Given the description of an element on the screen output the (x, y) to click on. 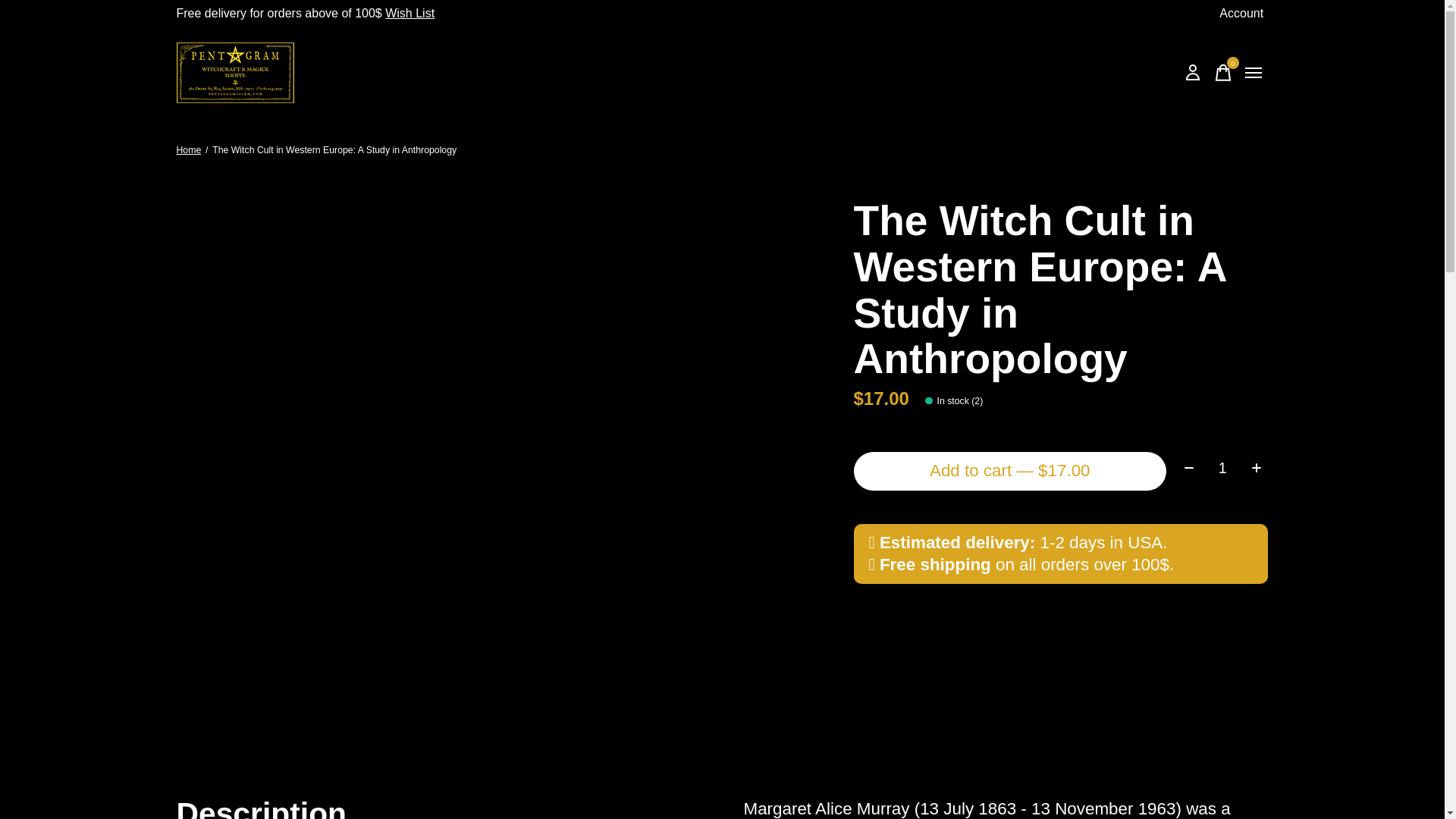
1 (1222, 72)
Account (1222, 467)
Wish List (1241, 13)
